Given the description of an element on the screen output the (x, y) to click on. 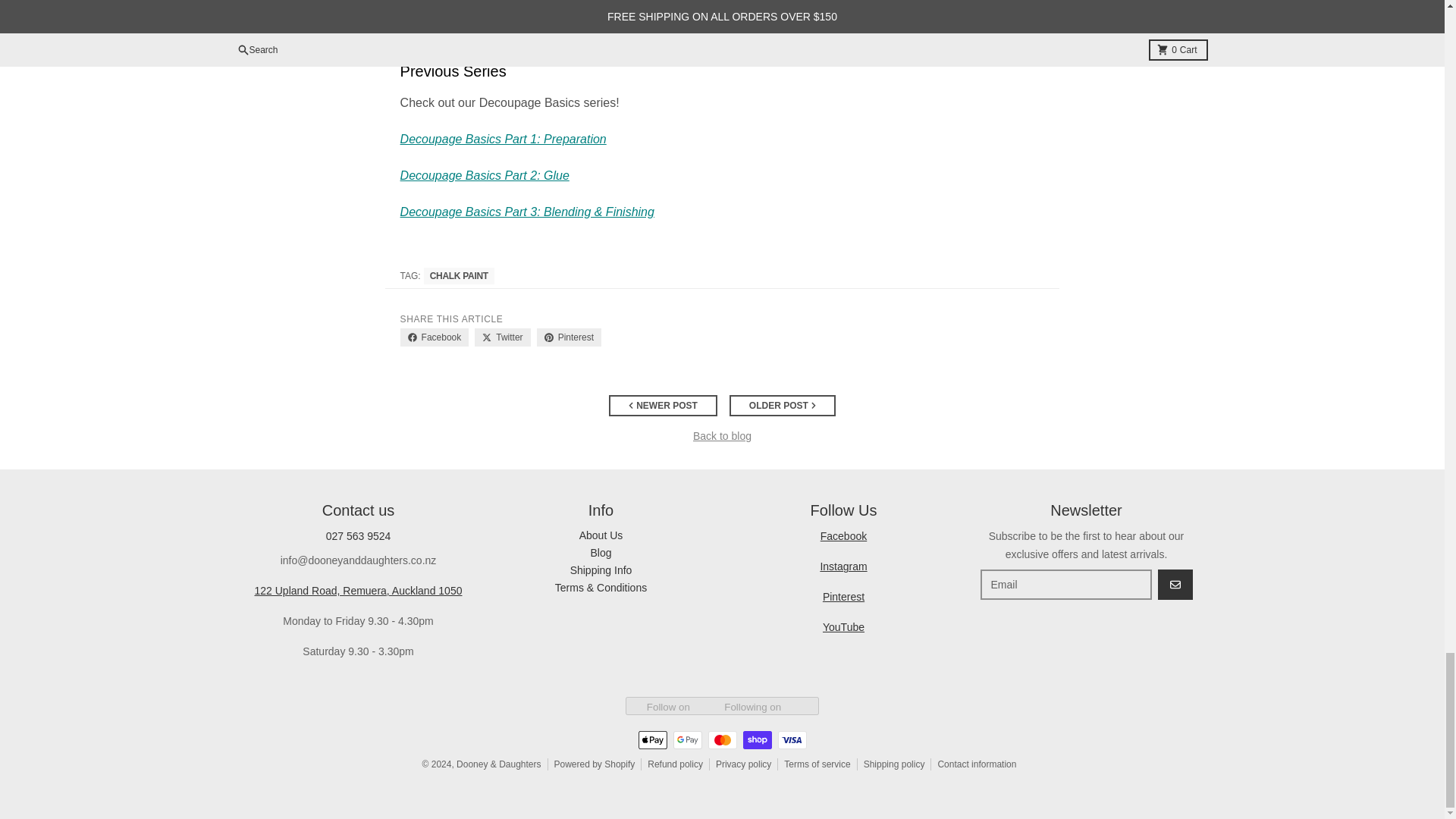
Decoupage Basics Part 1: Preparation (503, 138)
Decoupage Basics Part 2: Glue (484, 174)
Chalk Paint Basics Part 5 (543, 23)
